Given the description of an element on the screen output the (x, y) to click on. 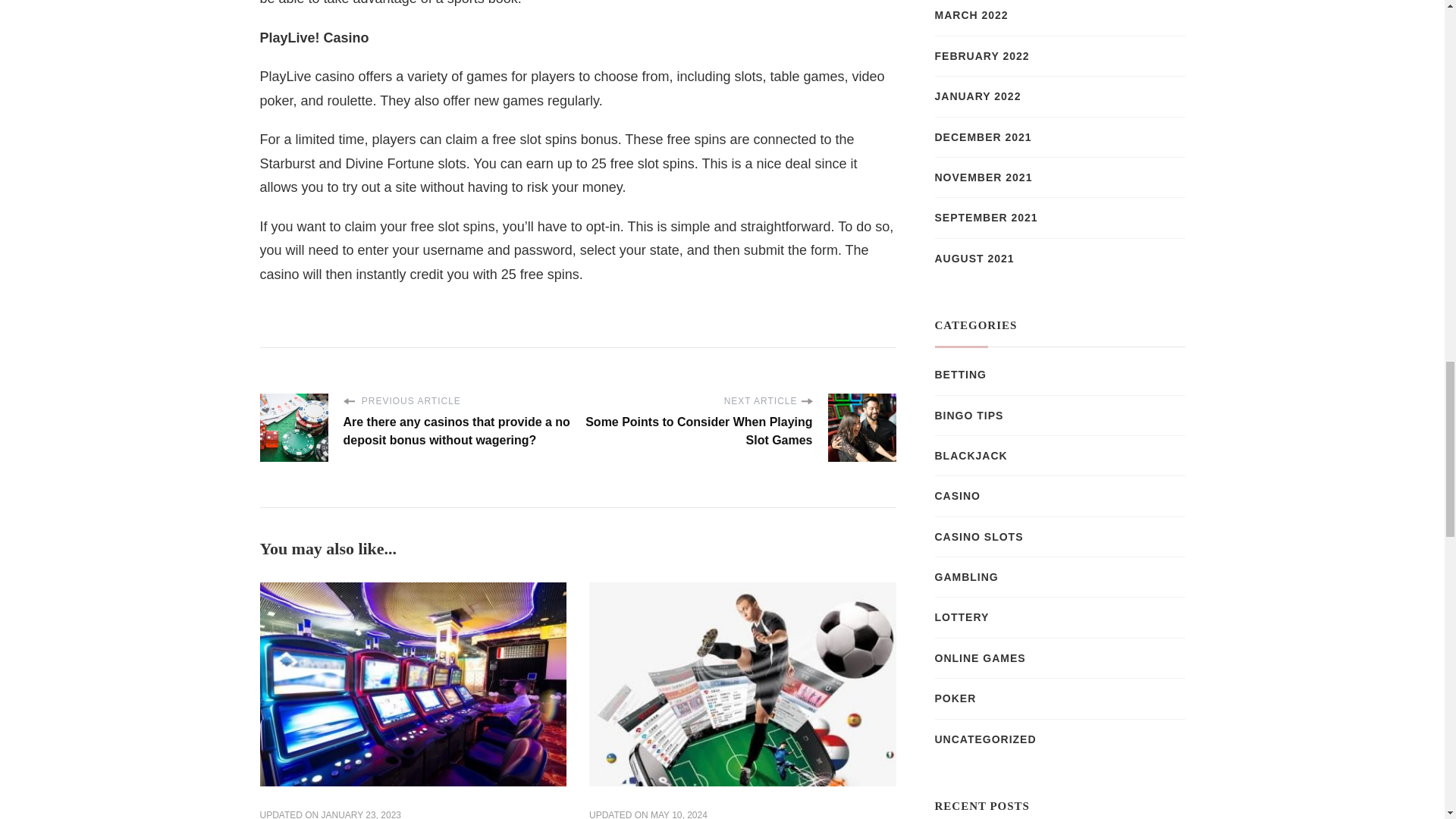
JANUARY 23, 2023 (361, 814)
MAY 10, 2024 (678, 814)
